Given the description of an element on the screen output the (x, y) to click on. 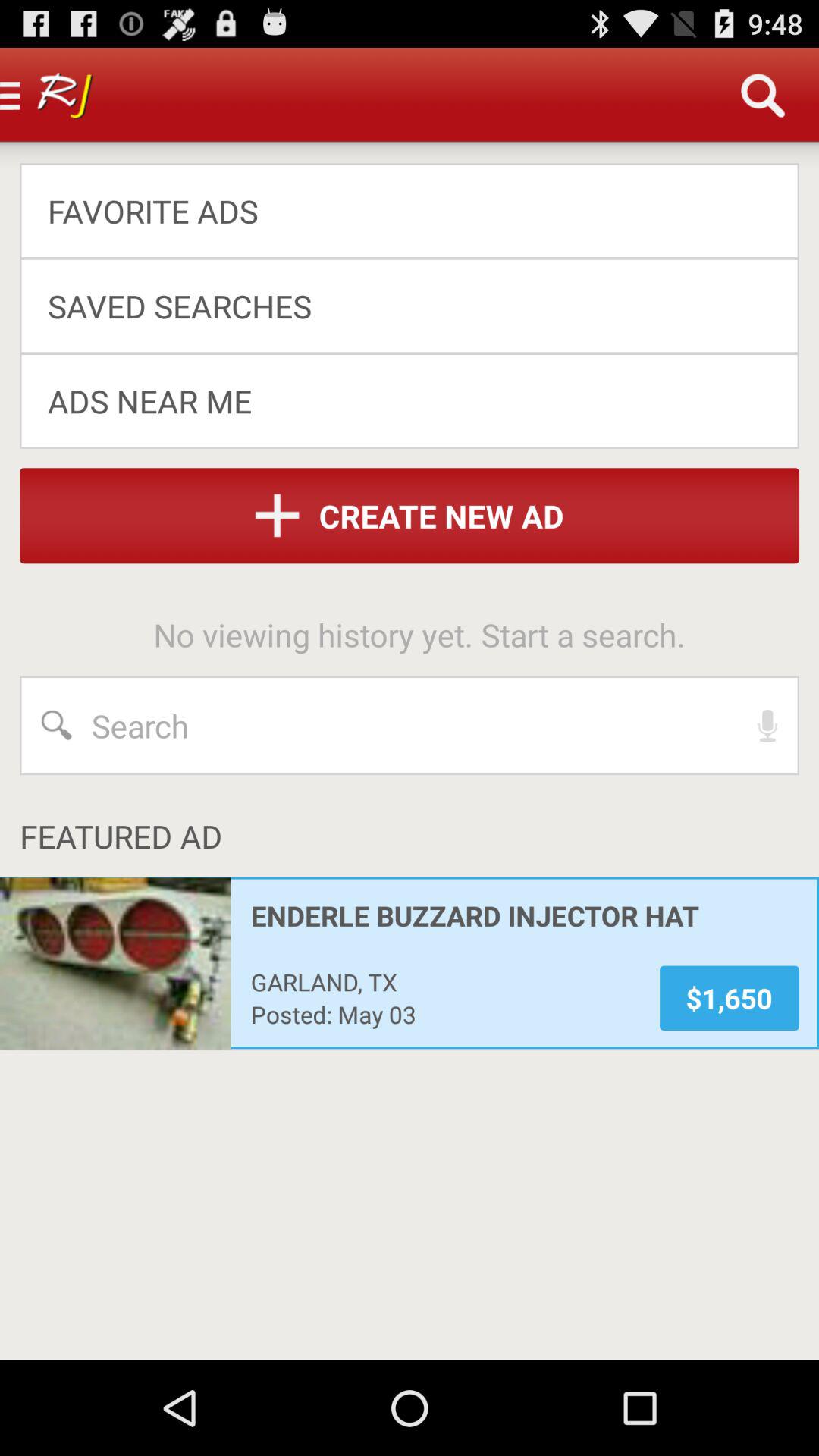
open the app below the favorite ads item (399, 305)
